Given the description of an element on the screen output the (x, y) to click on. 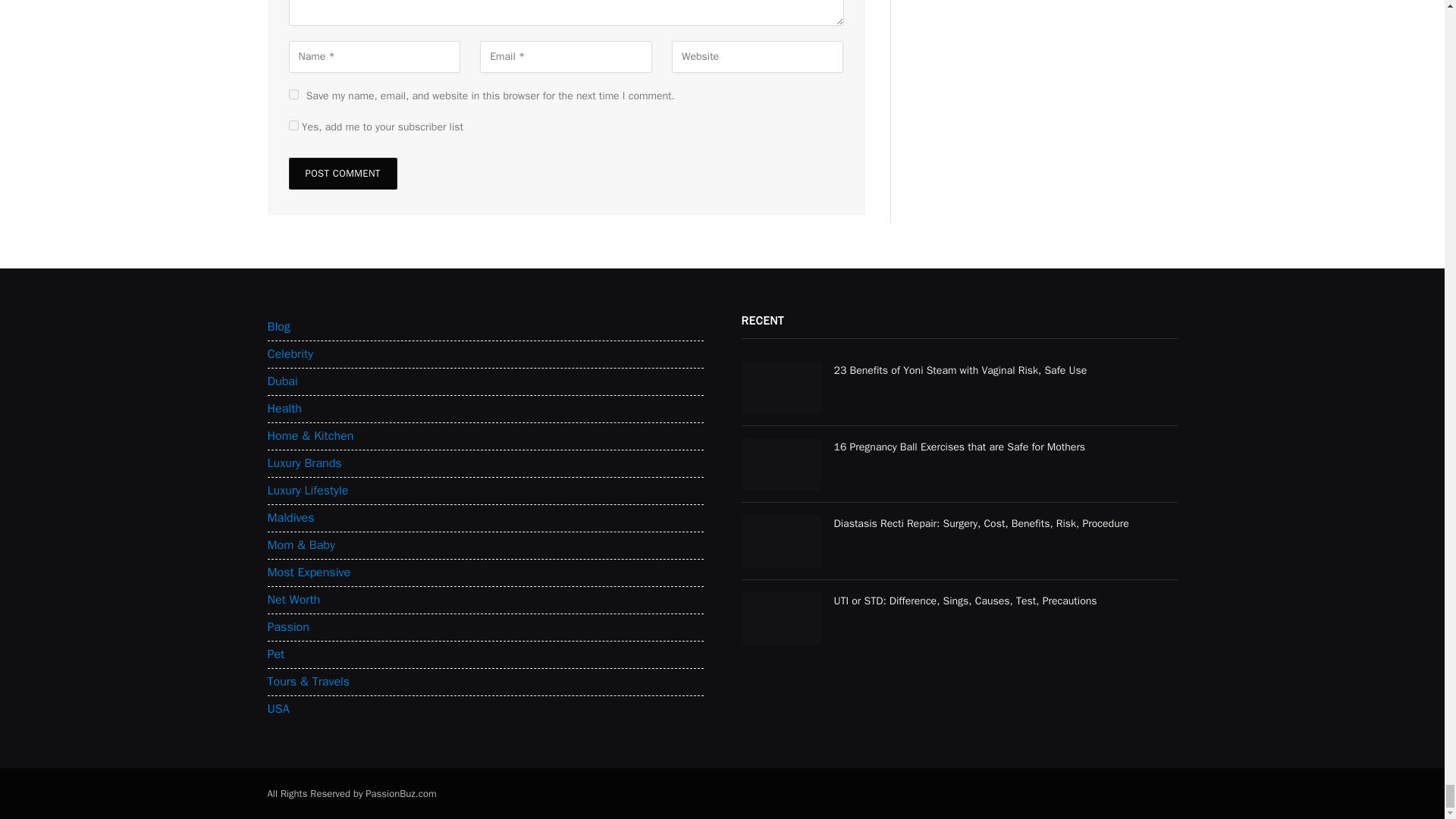
1 (293, 125)
yes (293, 94)
Post Comment (342, 173)
